Given the description of an element on the screen output the (x, y) to click on. 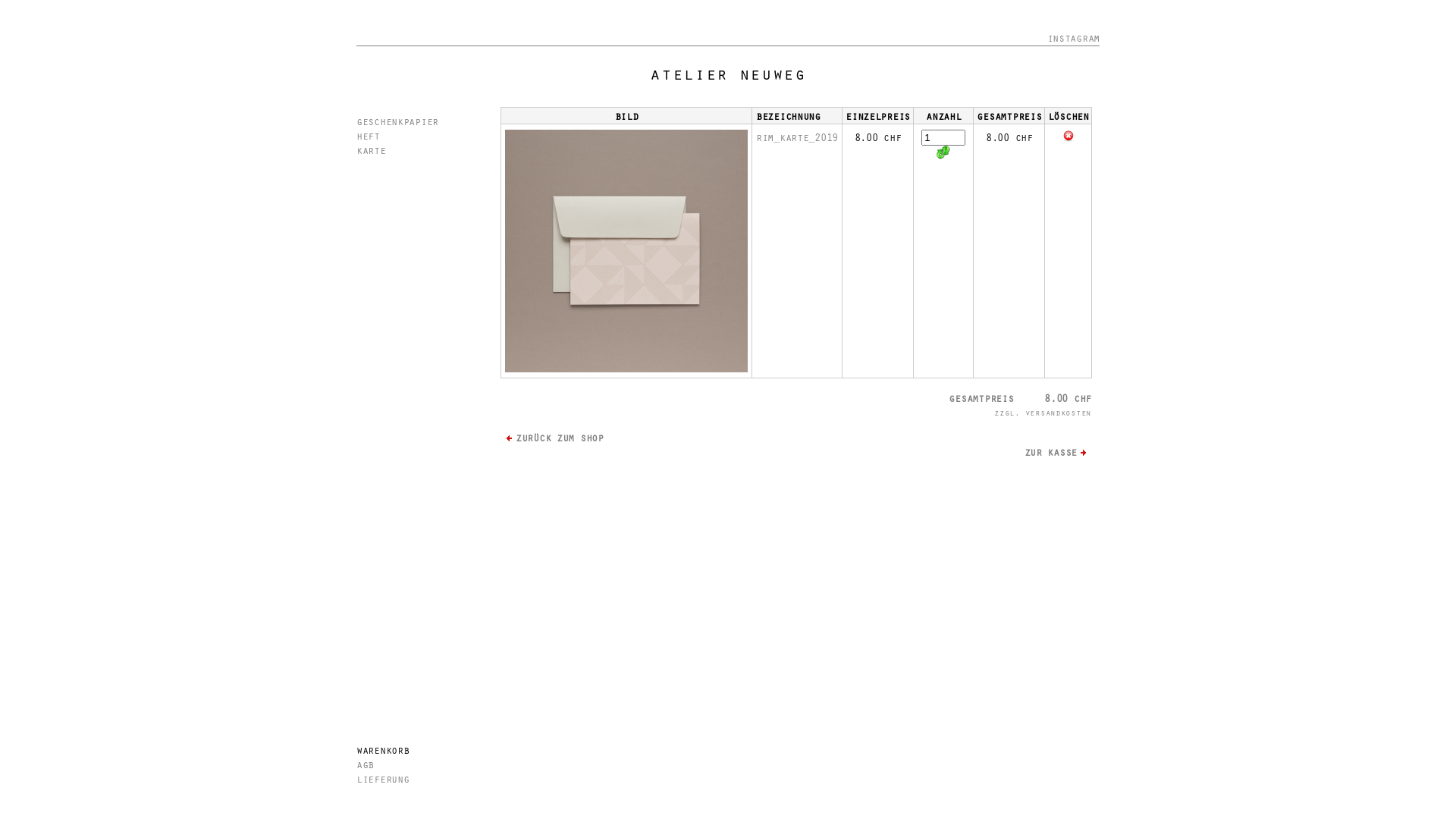
lieferung Element type: text (382, 778)
warenkorb Element type: text (382, 749)
atelier neuweg Element type: text (727, 72)
karte Element type: text (370, 149)
heft Element type: text (367, 135)
instagram Element type: text (1073, 37)
geschenkpapier Element type: text (397, 120)
versandkosten Element type: text (1058, 411)
zur kasse Element type: text (1058, 451)
agb Element type: text (364, 763)
Warenkorb aktualisieren Element type: hover (943, 152)
rim_karte_2019 Element type: text (796, 136)
